Given the description of an element on the screen output the (x, y) to click on. 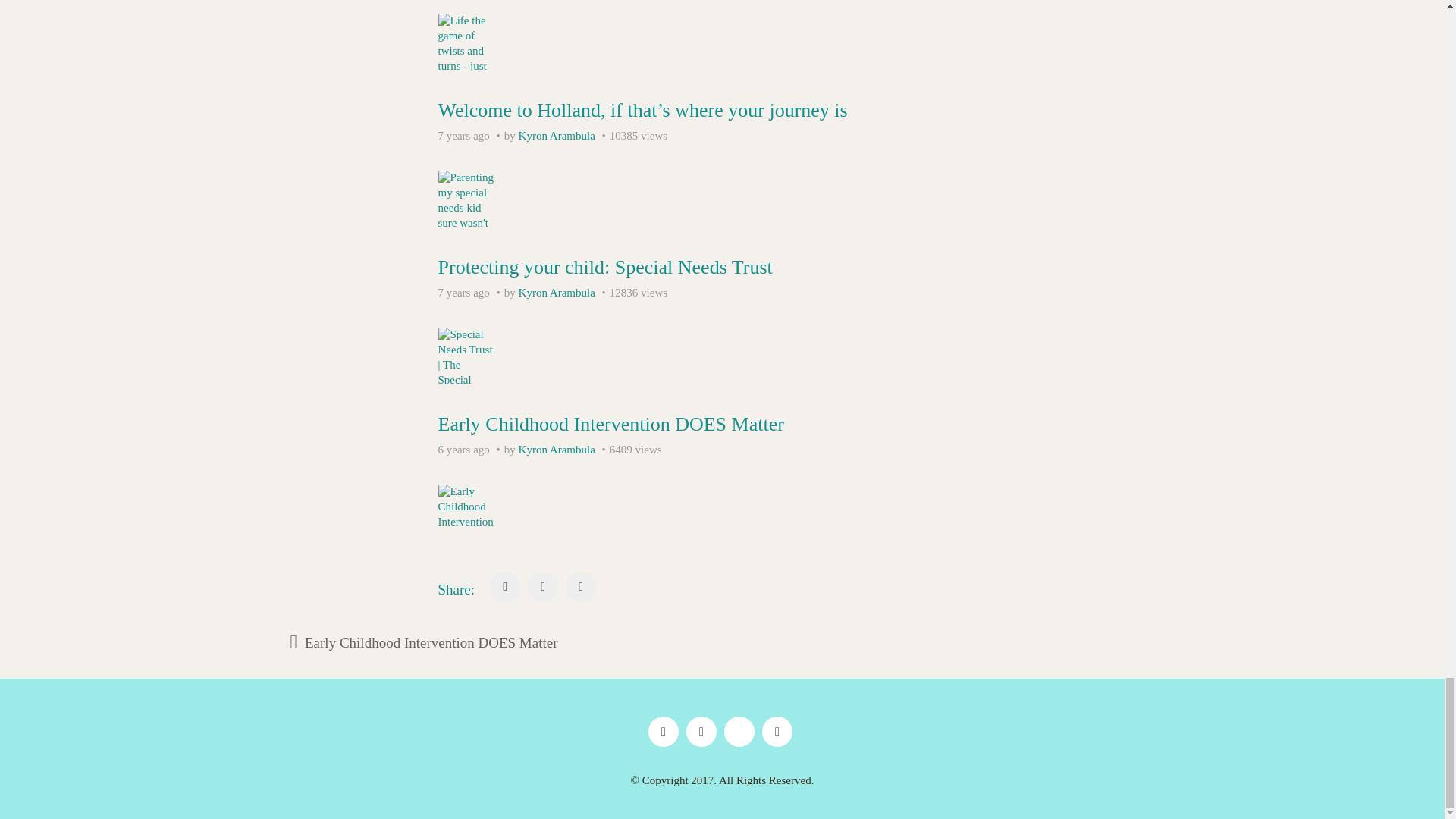
Quora (738, 731)
Kyron Arambula (556, 135)
Early Childhood Intervention DOES Matter (611, 423)
Email (776, 731)
Twitter (700, 731)
Kyron Arambula (556, 292)
Protecting your child: Special Needs Trust (605, 267)
Facebook (662, 731)
